Given the description of an element on the screen output the (x, y) to click on. 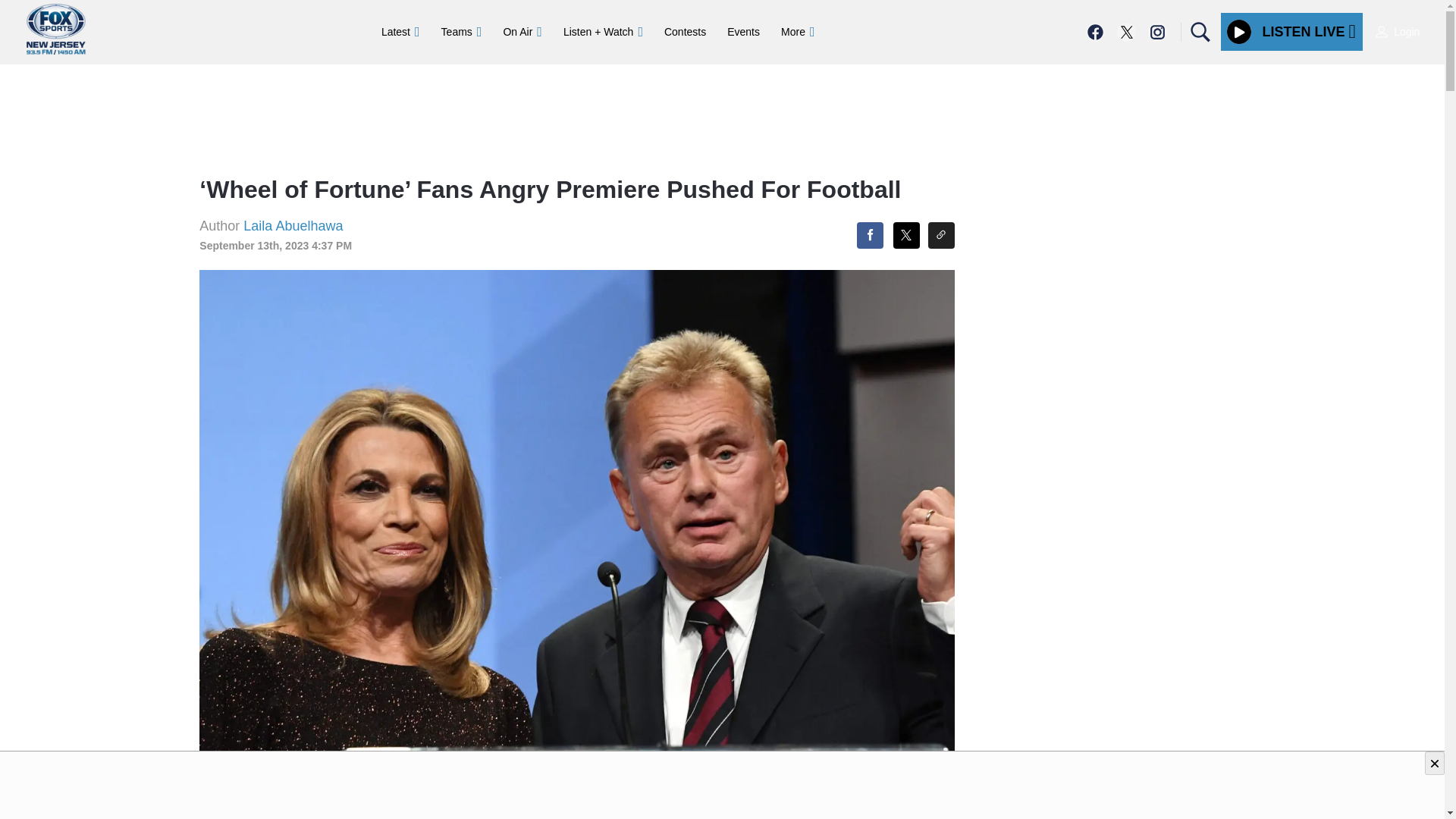
3rd party ad content (721, 113)
Latest (400, 31)
3rd party ad content (721, 785)
Teams (461, 31)
Close AdCheckmark indicating ad close (1434, 763)
On Air (521, 31)
Laila Abuelhawa (292, 225)
